Given the description of an element on the screen output the (x, y) to click on. 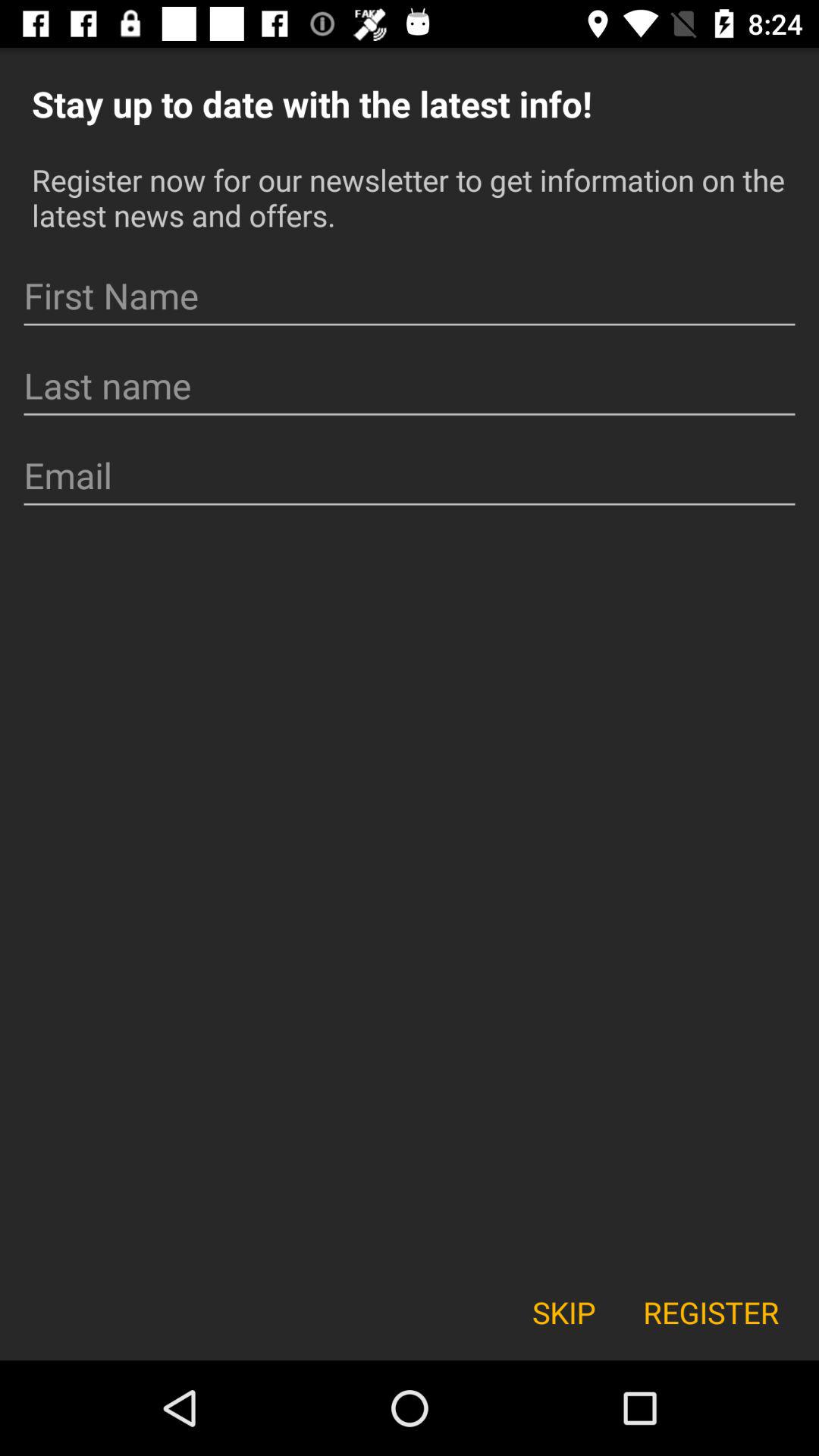
click icon to the left of register item (563, 1312)
